Given the description of an element on the screen output the (x, y) to click on. 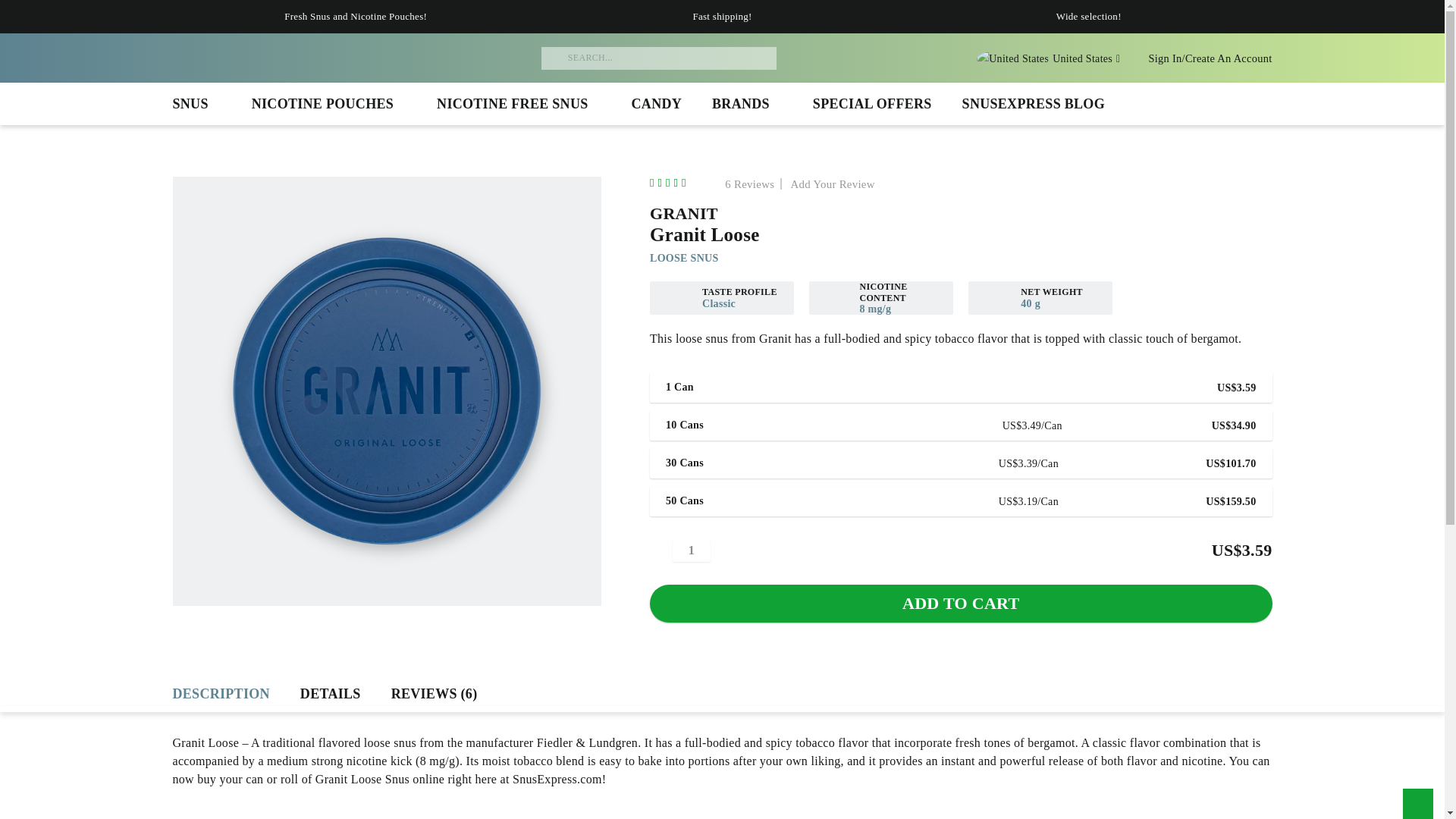
SNUS (197, 103)
Search (560, 57)
NICOTINE POUCHES (328, 103)
1 (691, 549)
Snus (197, 103)
Search (560, 57)
